Given the description of an element on the screen output the (x, y) to click on. 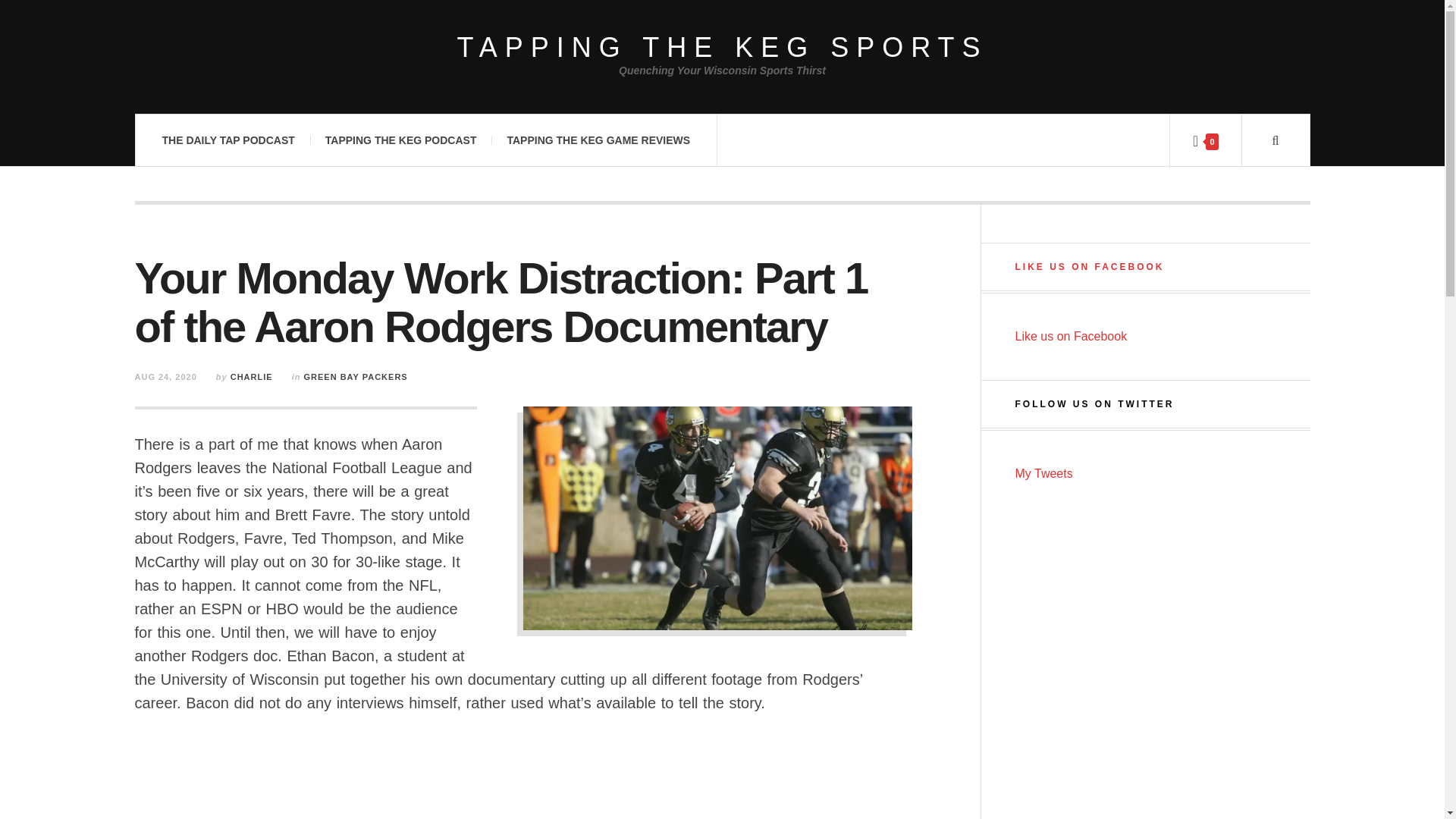
TAPPING THE KEG SPORTS (722, 47)
GREEN BAY PACKERS (354, 376)
LIKE US ON FACEBOOK (1088, 266)
Tapping The Keg Sports (722, 47)
THE DAILY TAP PODCAST (228, 140)
Like us on Facebook (1070, 336)
My Tweets (1042, 472)
TAPPING THE KEG PODCAST (401, 140)
View your shopping cart (1204, 140)
0 (1204, 140)
